Given the description of an element on the screen output the (x, y) to click on. 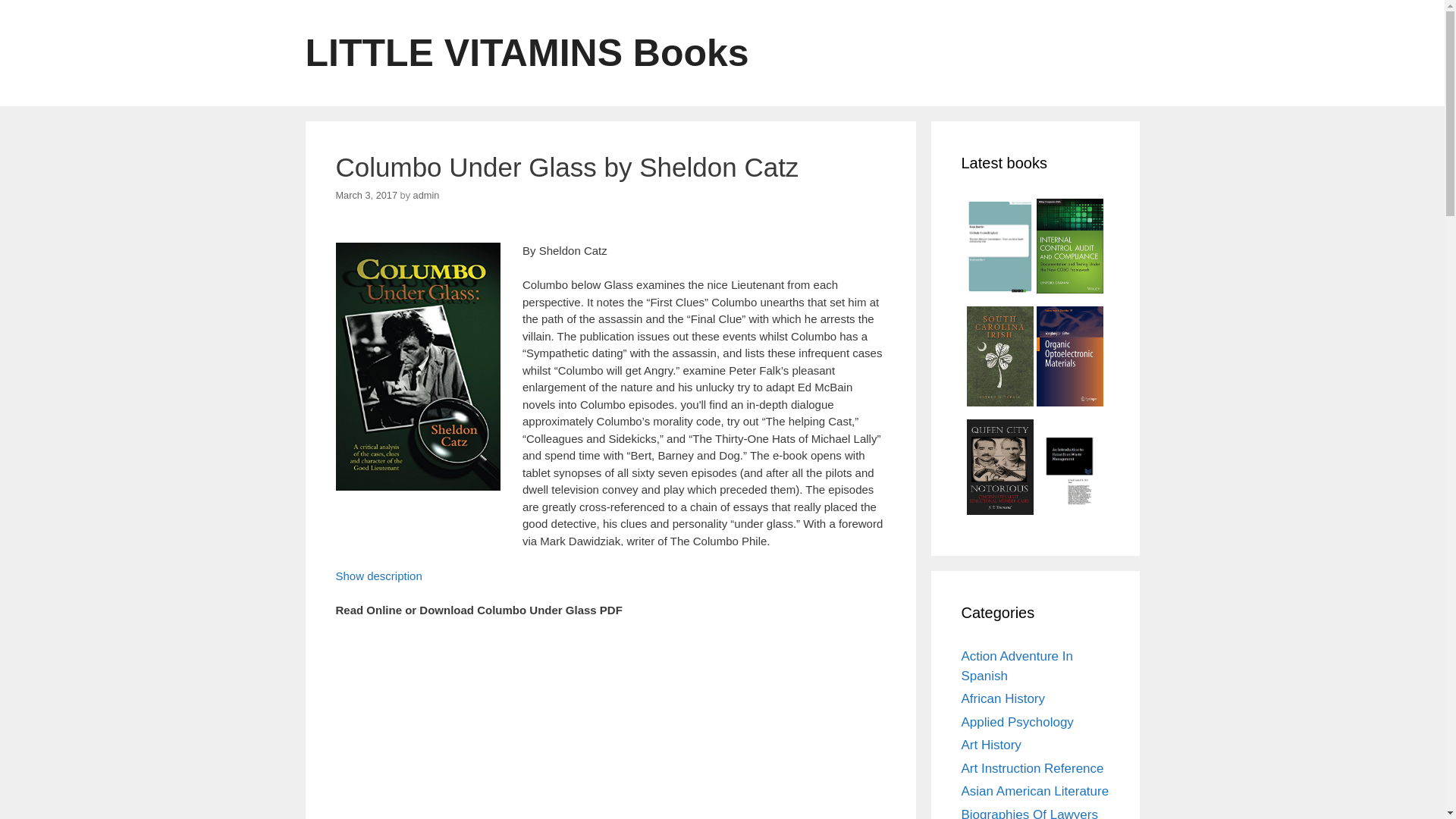
Applied Psychology (1017, 721)
View all posts by admin (426, 194)
admin (426, 194)
African History (1002, 698)
Skip to content (37, 8)
LITTLE VITAMINS Books (526, 52)
Art History (991, 744)
Action Adventure In Spanish (1016, 666)
